Given the description of an element on the screen output the (x, y) to click on. 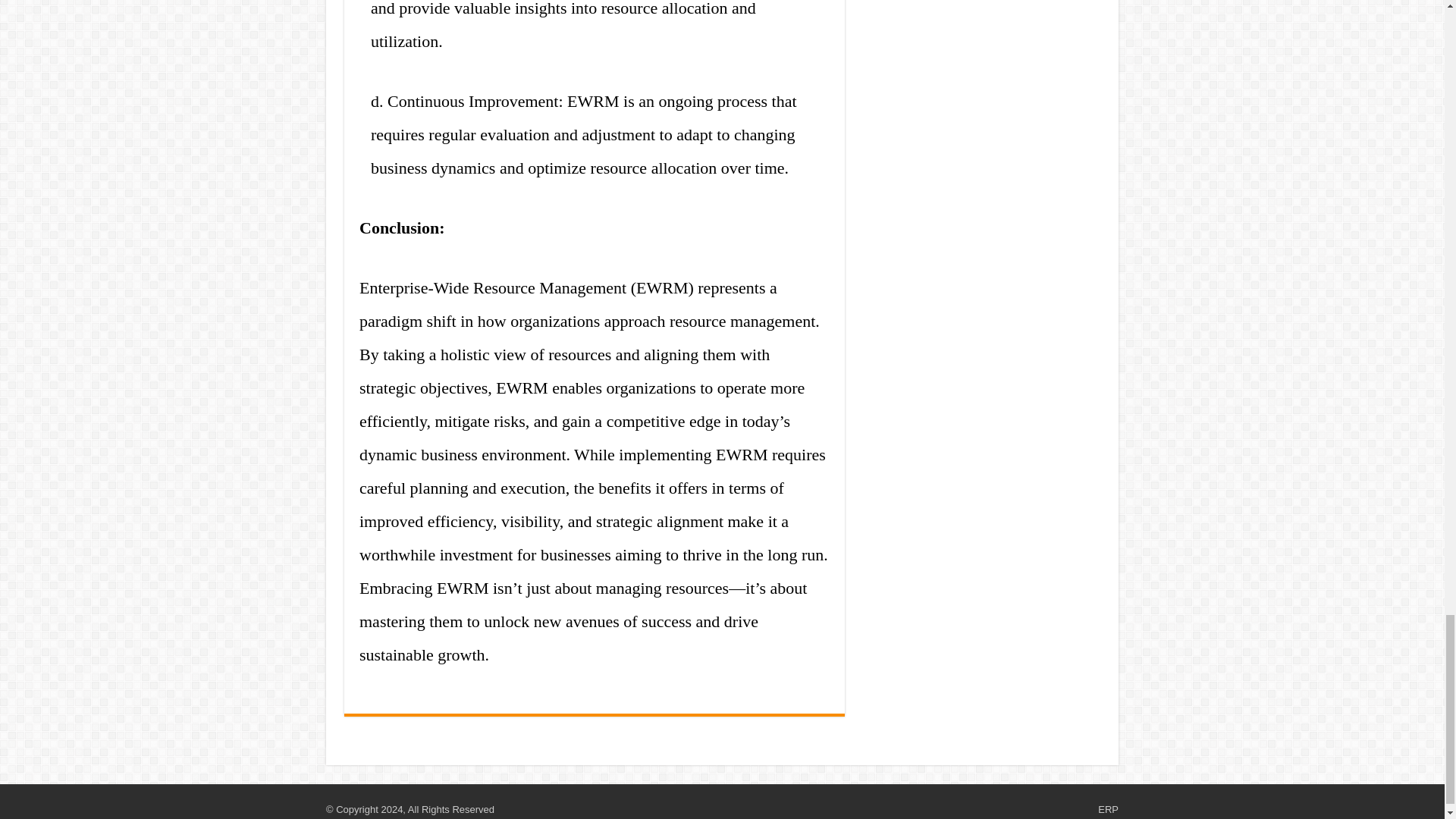
ERP (1107, 808)
